Given the description of an element on the screen output the (x, y) to click on. 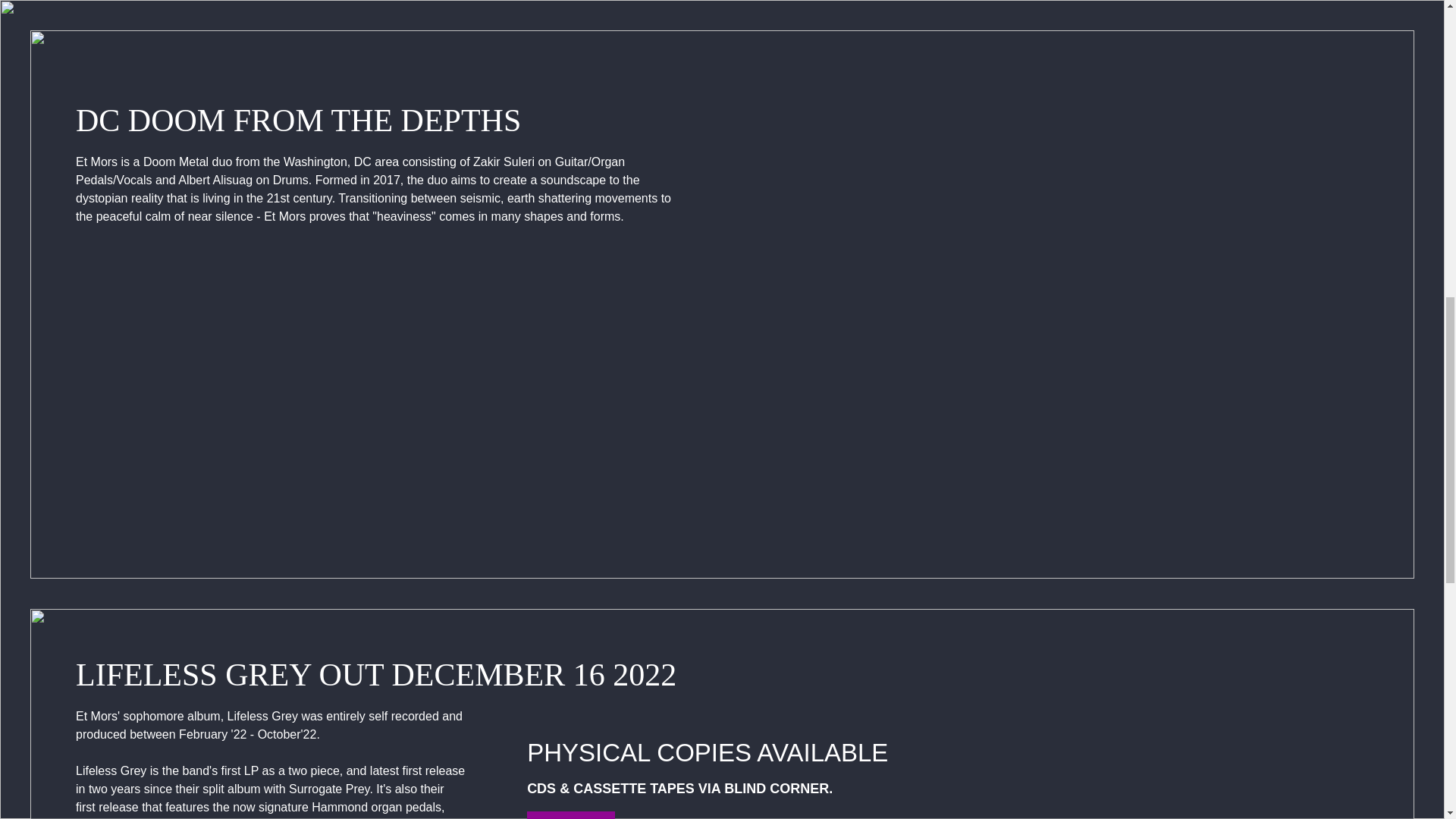
BUY NOW (570, 815)
